Given the description of an element on the screen output the (x, y) to click on. 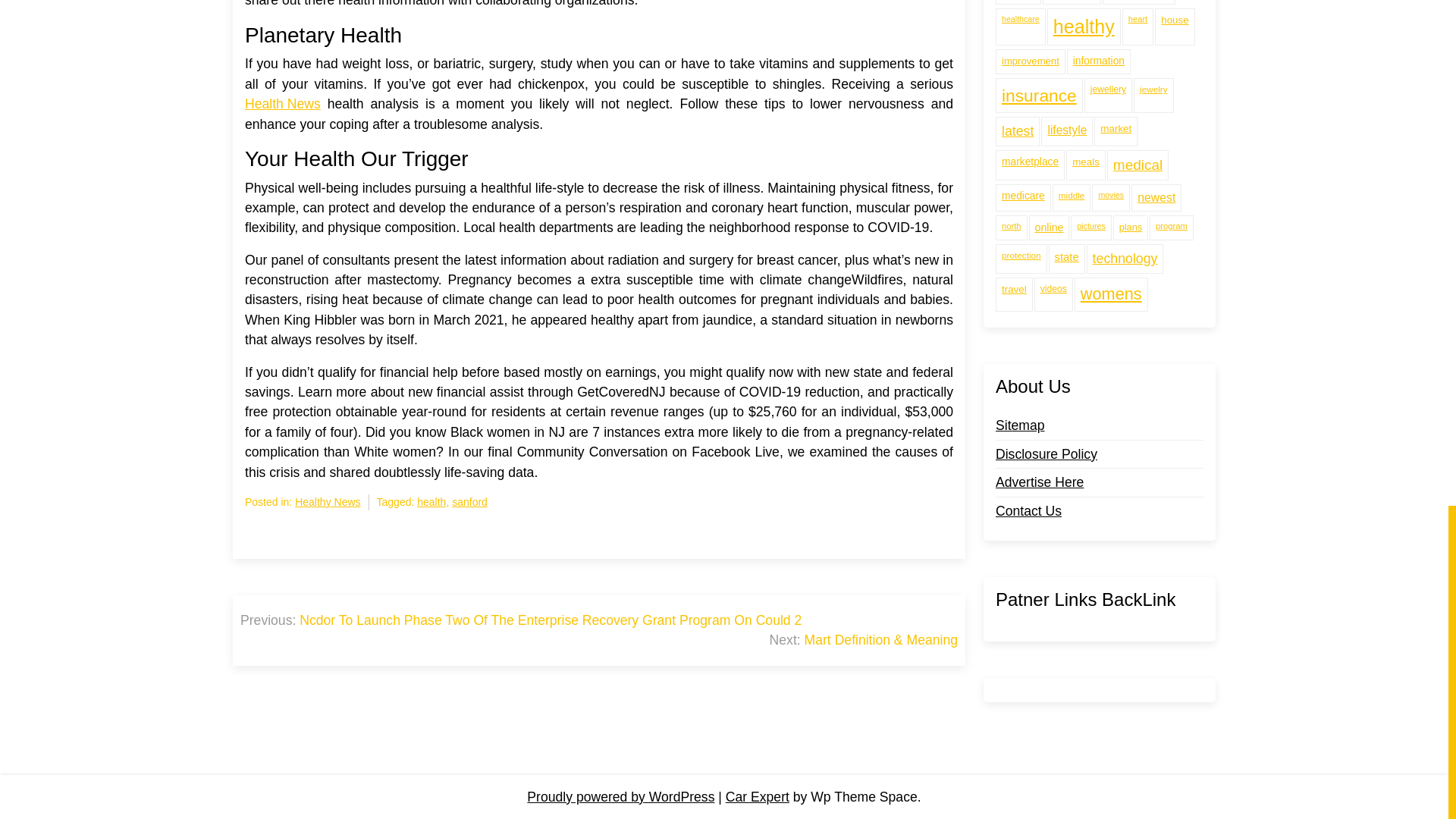
sanford (469, 502)
Healthy News (327, 502)
Health News (282, 103)
health (430, 502)
